Given the description of an element on the screen output the (x, y) to click on. 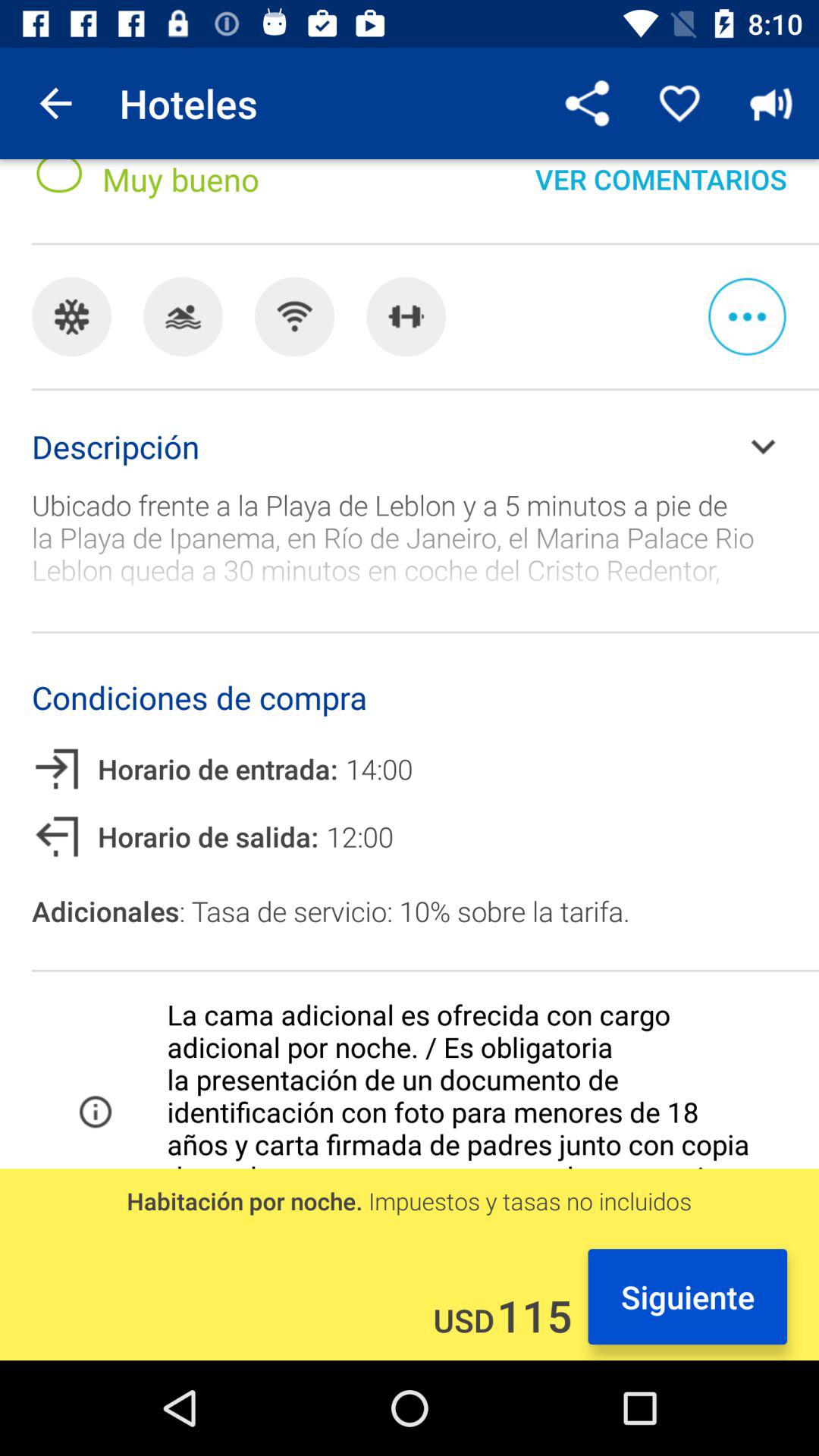
open icon to the right of the muy bueno (587, 103)
